Given the description of an element on the screen output the (x, y) to click on. 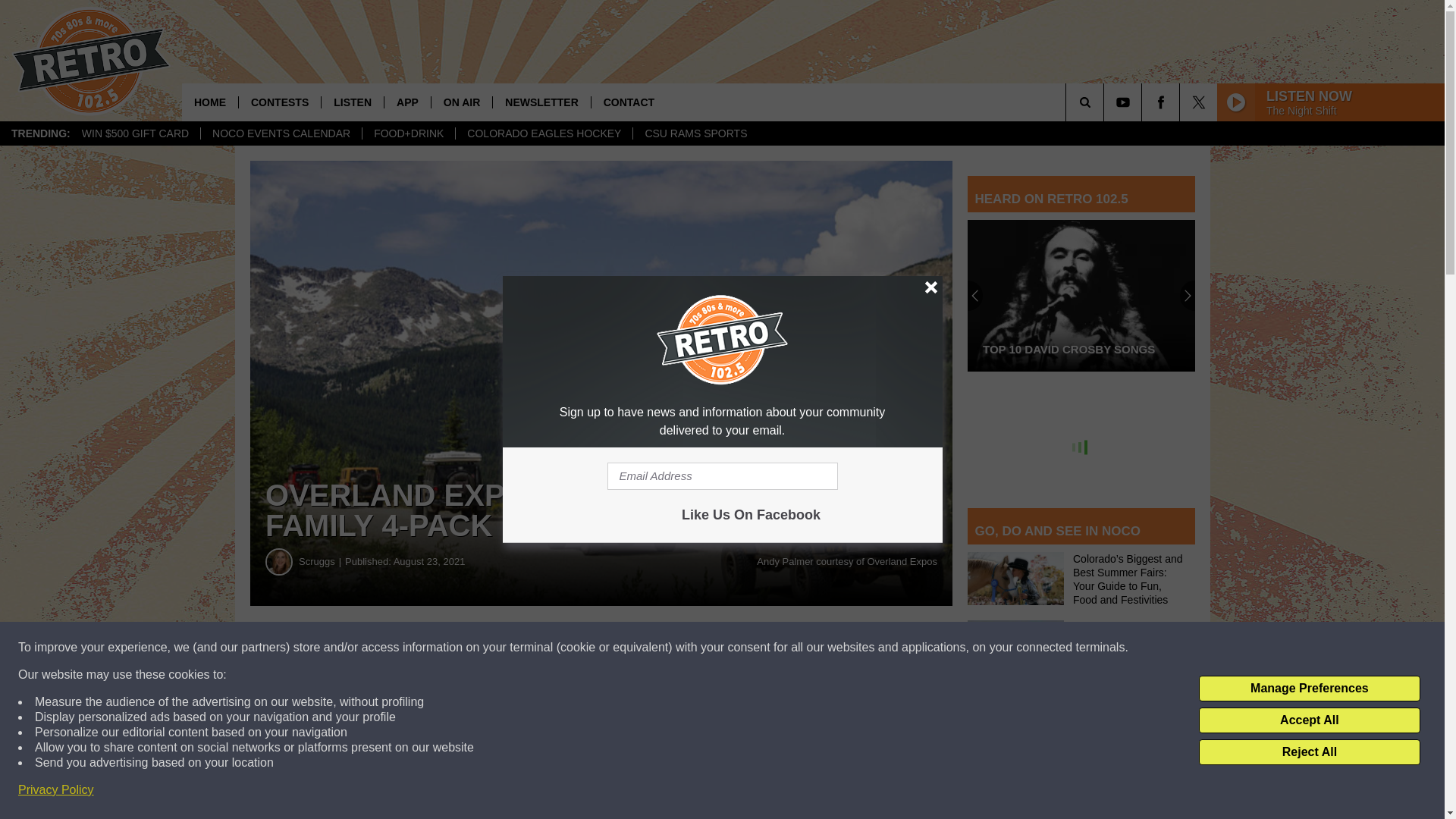
Privacy Policy (55, 789)
Email Address (722, 475)
CONTACT (628, 102)
HOME (210, 102)
Manage Preferences (1309, 688)
LISTEN (352, 102)
CSU RAMS SPORTS (694, 133)
SEARCH (1106, 102)
SEARCH (1106, 102)
NOCO EVENTS CALENDAR (280, 133)
Reject All (1309, 751)
ON AIR (461, 102)
APP (407, 102)
COLORADO EAGLES HOCKEY (542, 133)
CONTESTS (279, 102)
